Given the description of an element on the screen output the (x, y) to click on. 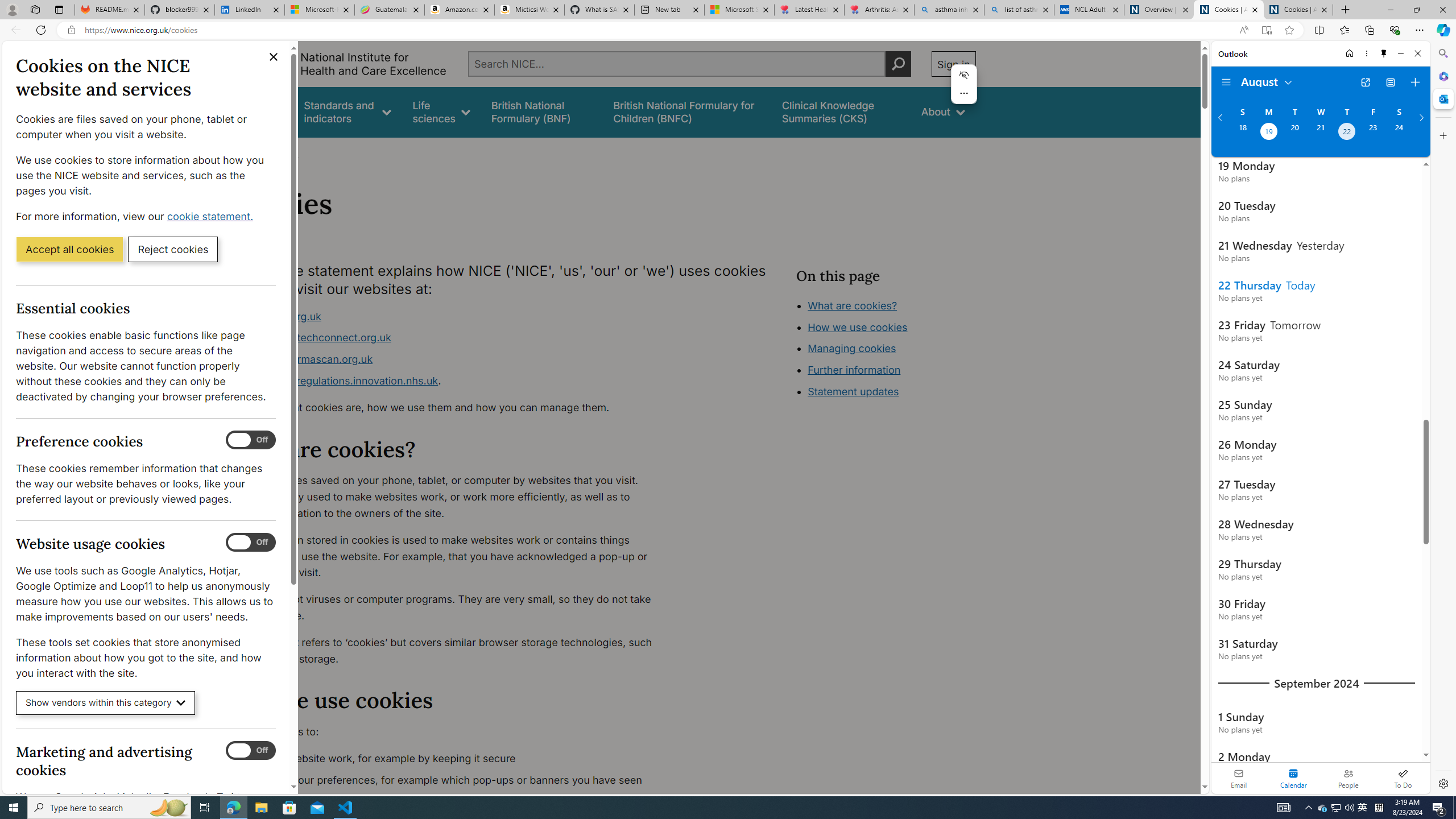
make our website work, for example by keeping it secure (452, 759)
Statement updates (853, 391)
Saturday, August 24, 2024.  (1399, 132)
Email (1238, 777)
